Given the description of an element on the screen output the (x, y) to click on. 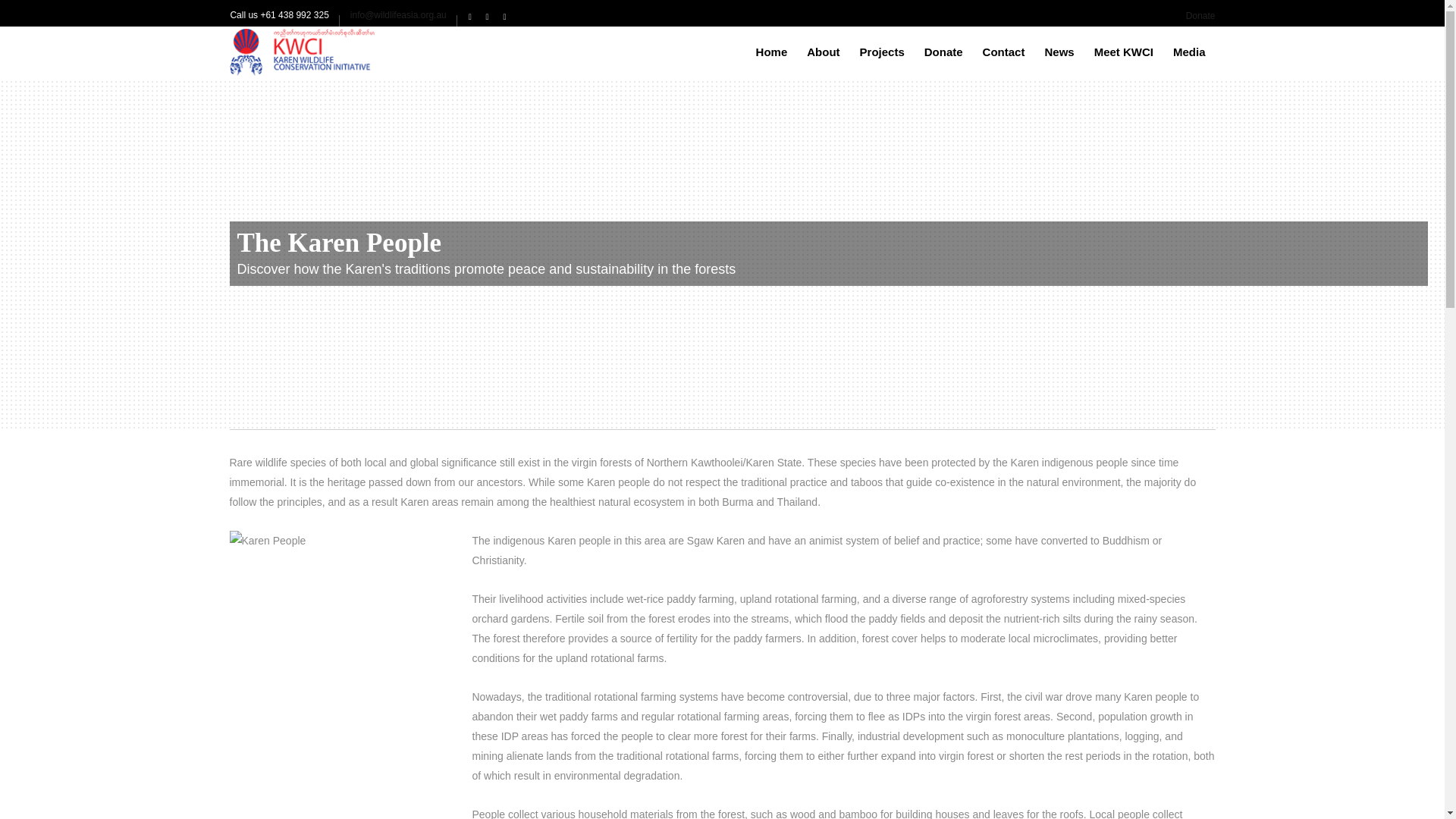
Donate (1200, 15)
About (822, 51)
Contact (1003, 51)
Home (771, 51)
News (1058, 51)
Projects (882, 51)
Donate (943, 51)
Media (1189, 51)
Meet KWCI (1123, 51)
